Given the description of an element on the screen output the (x, y) to click on. 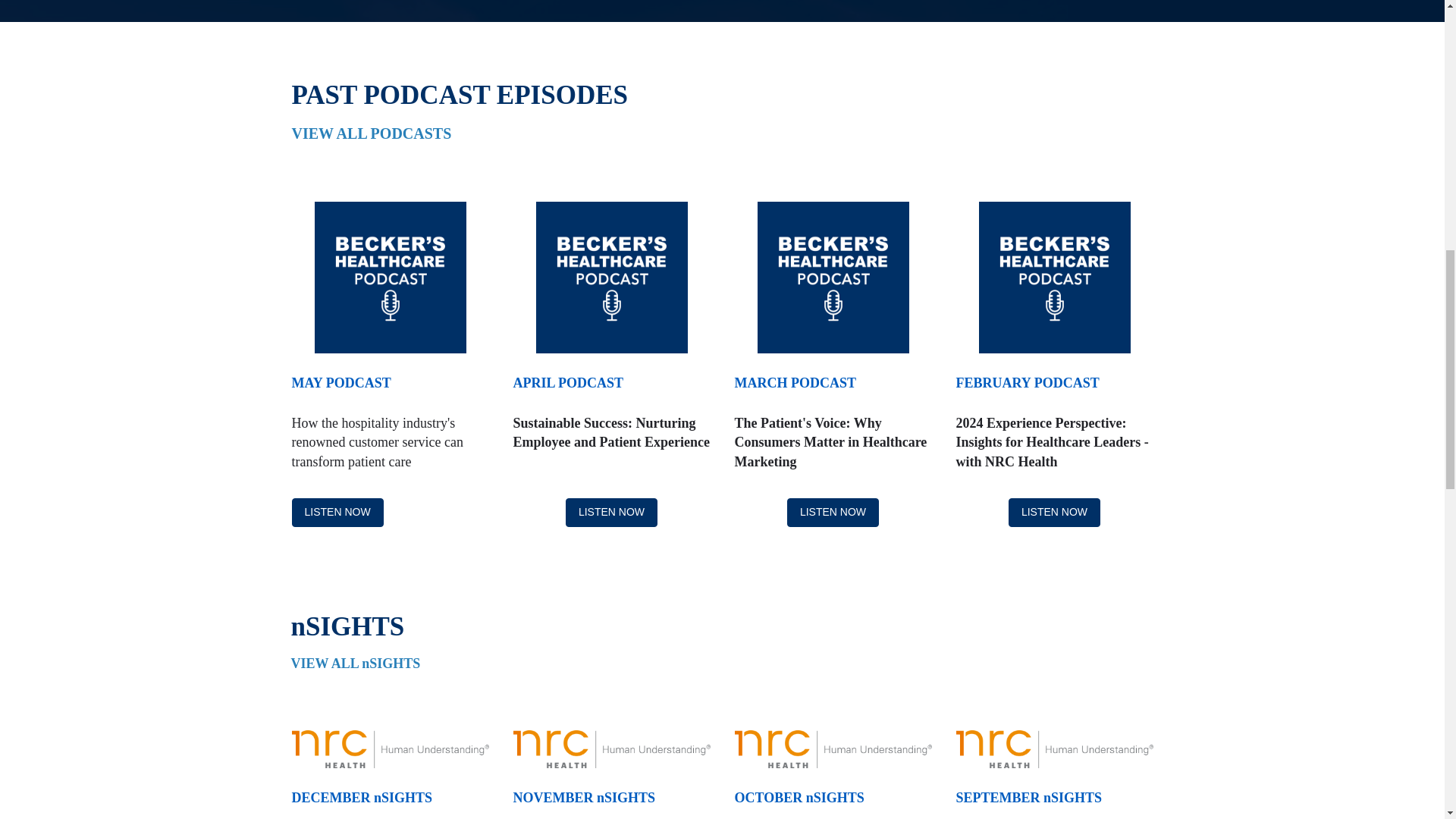
LISTEN NOW (336, 512)
LISTEN NOW (1054, 512)
LISTEN NOW (833, 512)
VIEW ALL nSIGHTS  (357, 663)
VIEW ALL PODCASTS (371, 133)
LISTEN NOW (612, 512)
